Given the description of an element on the screen output the (x, y) to click on. 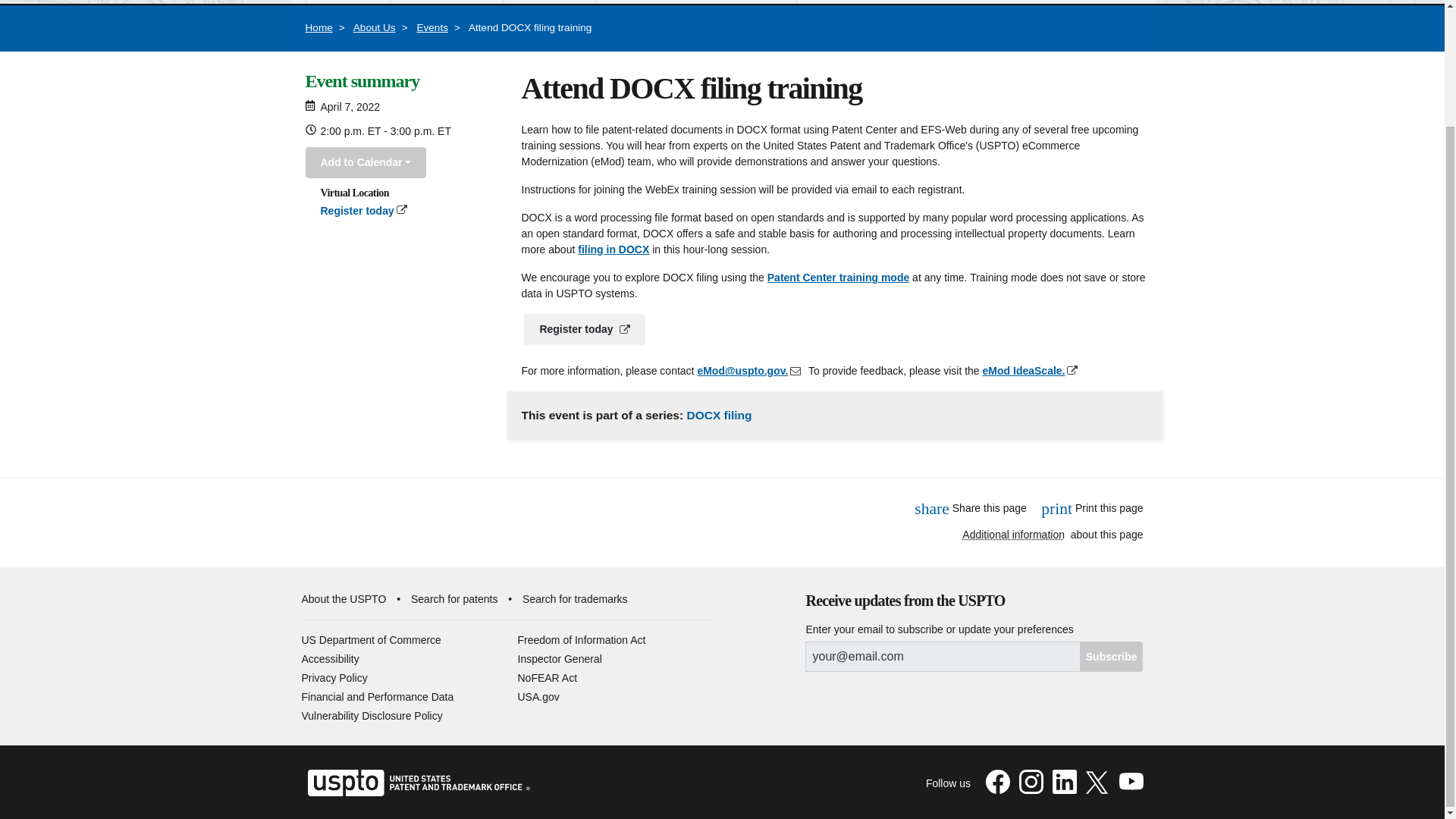
Trademarks (446, 2)
Patents (347, 2)
